Given the description of an element on the screen output the (x, y) to click on. 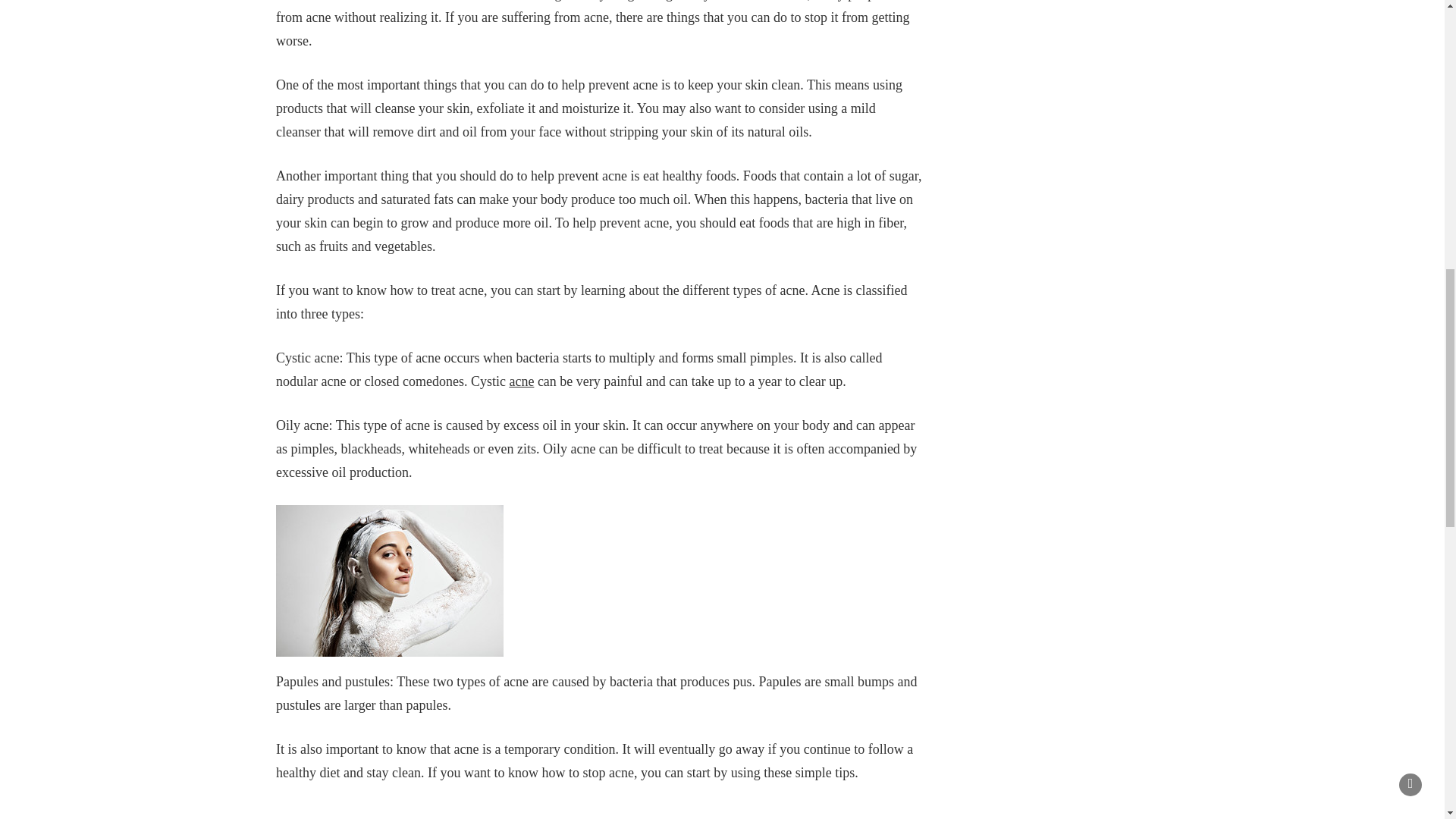
acne (521, 380)
